Given the description of an element on the screen output the (x, y) to click on. 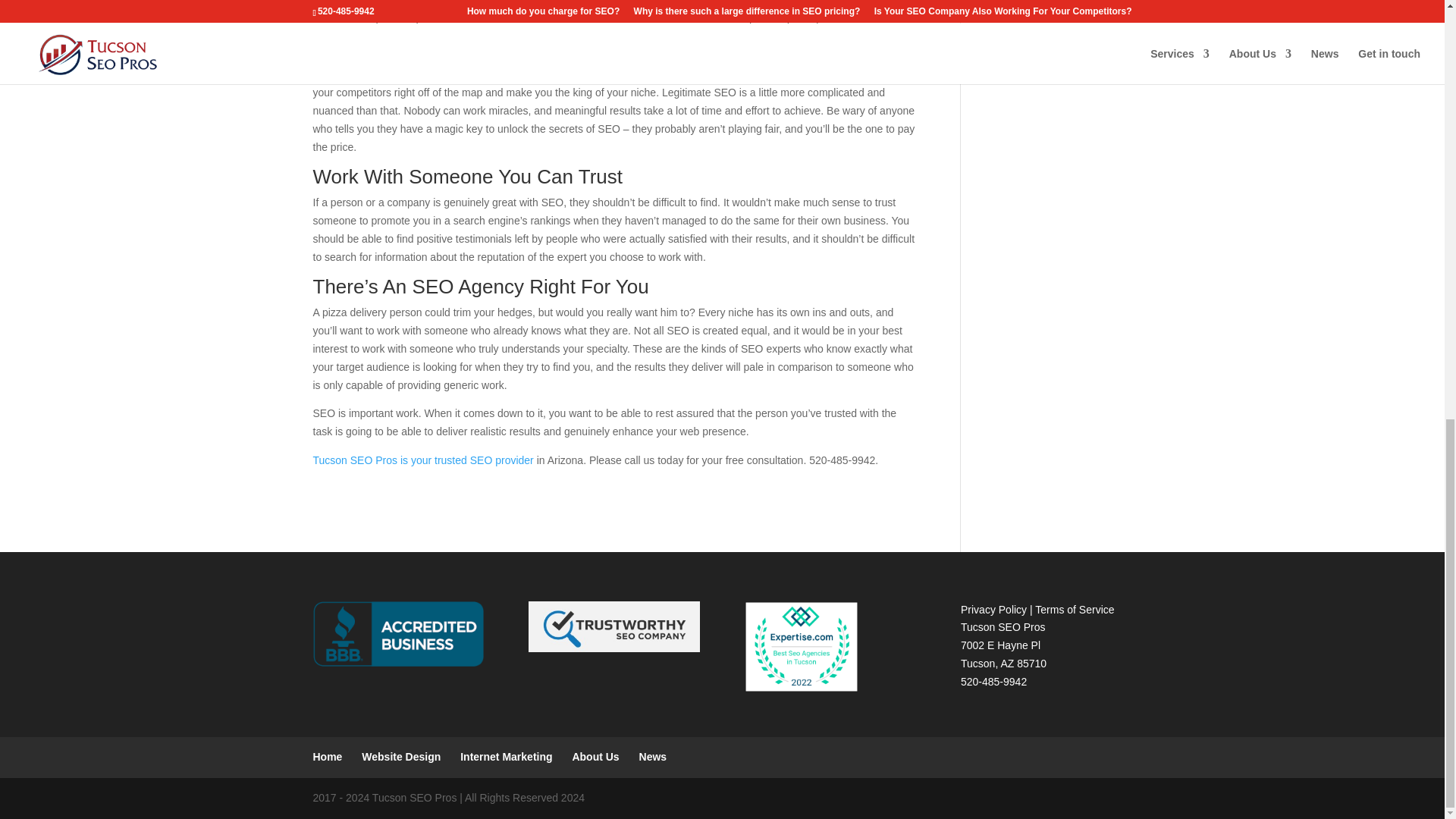
Tucson SEO Pros is your trusted SEO provider (422, 460)
Terms of Service (1074, 609)
Privacy Policy (993, 609)
Home (327, 756)
Website Design (401, 756)
